Given the description of an element on the screen output the (x, y) to click on. 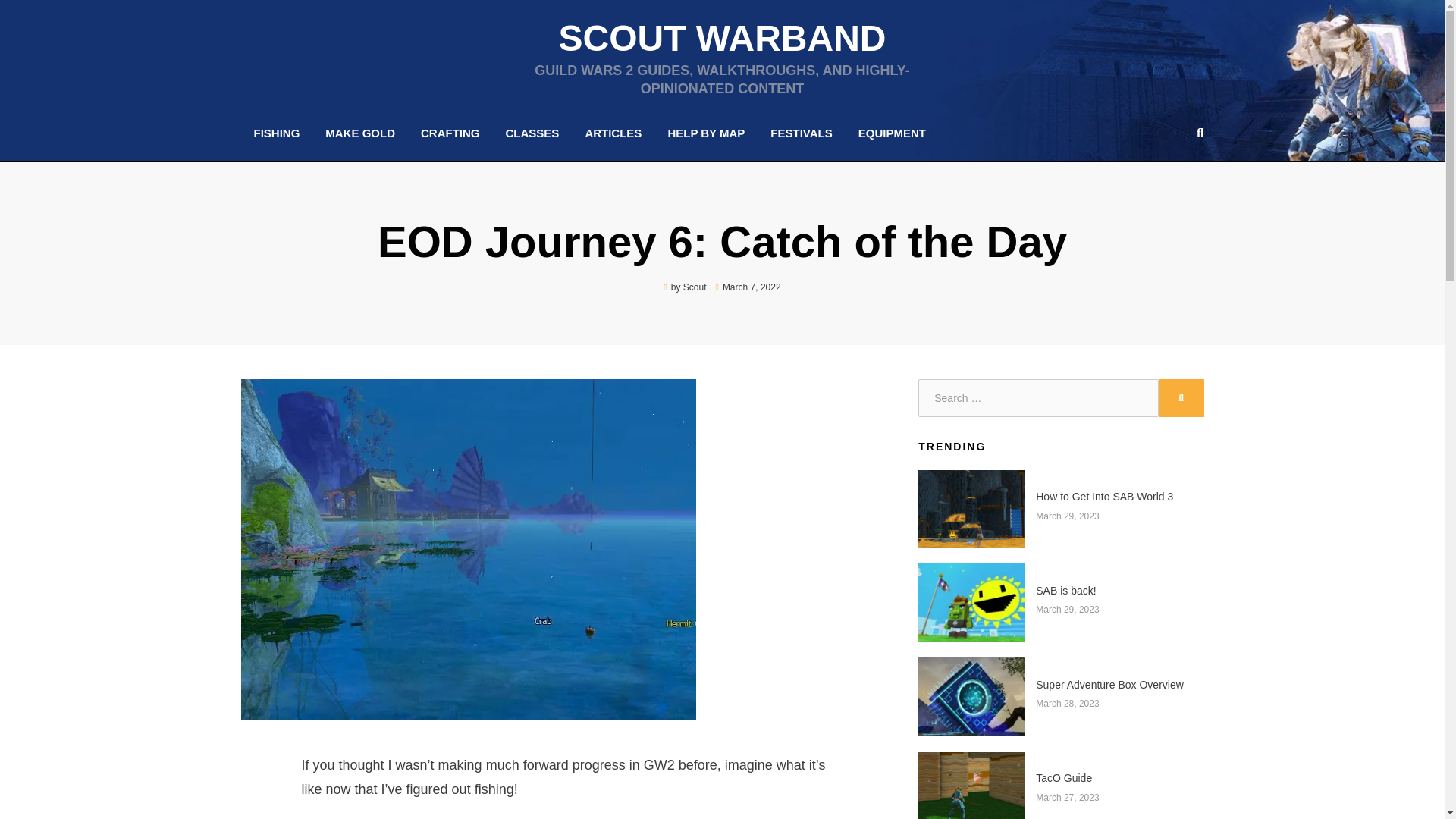
MAKE GOLD (360, 132)
CLASSES (532, 132)
CRAFTING (450, 132)
SCOUT WARBAND (721, 38)
HELP BY MAP (705, 132)
Scout Warband (721, 38)
FISHING (277, 132)
ARTICLES (612, 132)
Search for: (1037, 397)
Search (1196, 132)
